Given the description of an element on the screen output the (x, y) to click on. 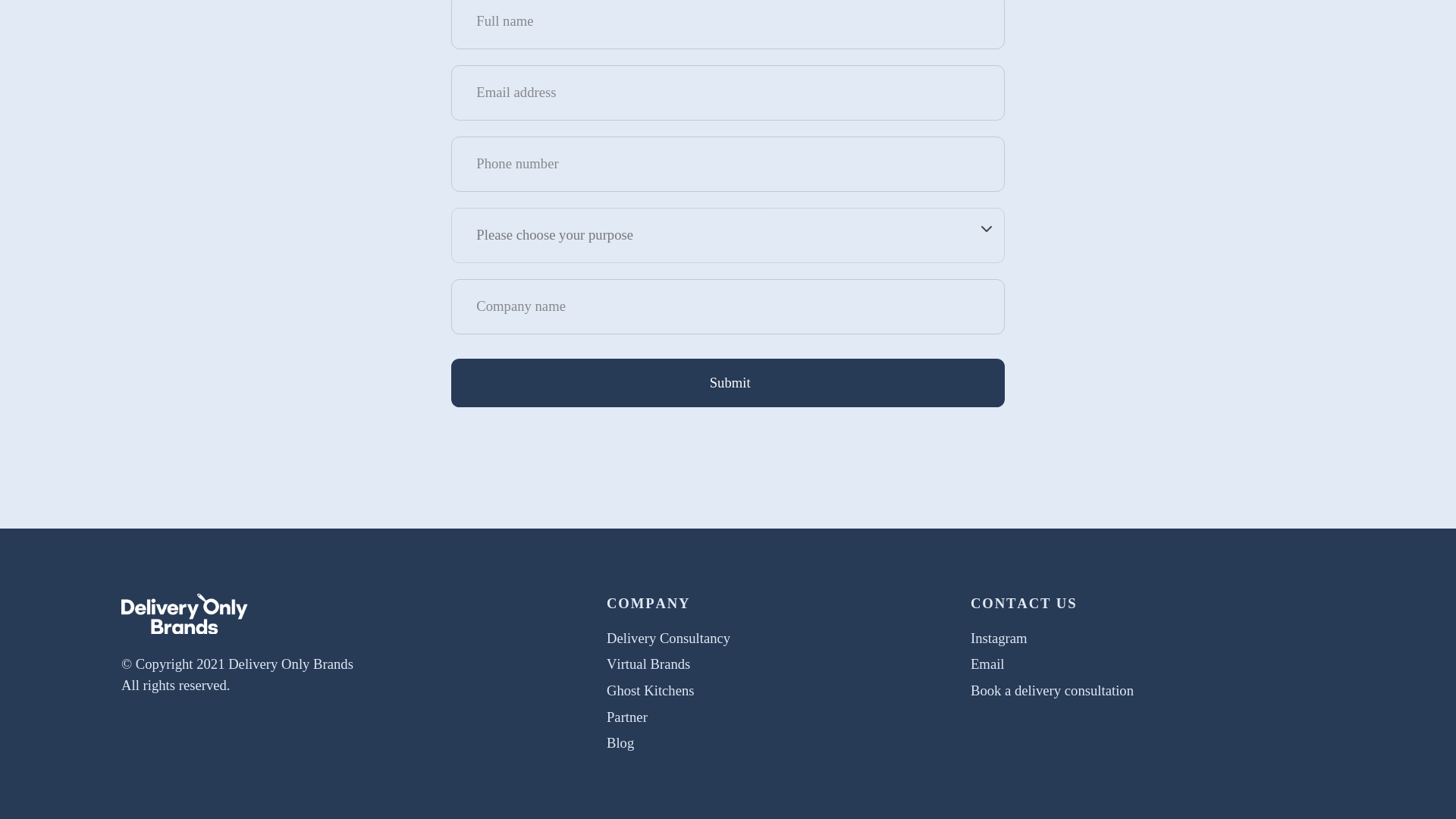
Ghost Kitchens (650, 690)
Delivery Consultancy (668, 637)
Submit (727, 382)
Blog (620, 742)
Virtual Brands (648, 663)
Book a delivery consultation (1052, 690)
